Given the description of an element on the screen output the (x, y) to click on. 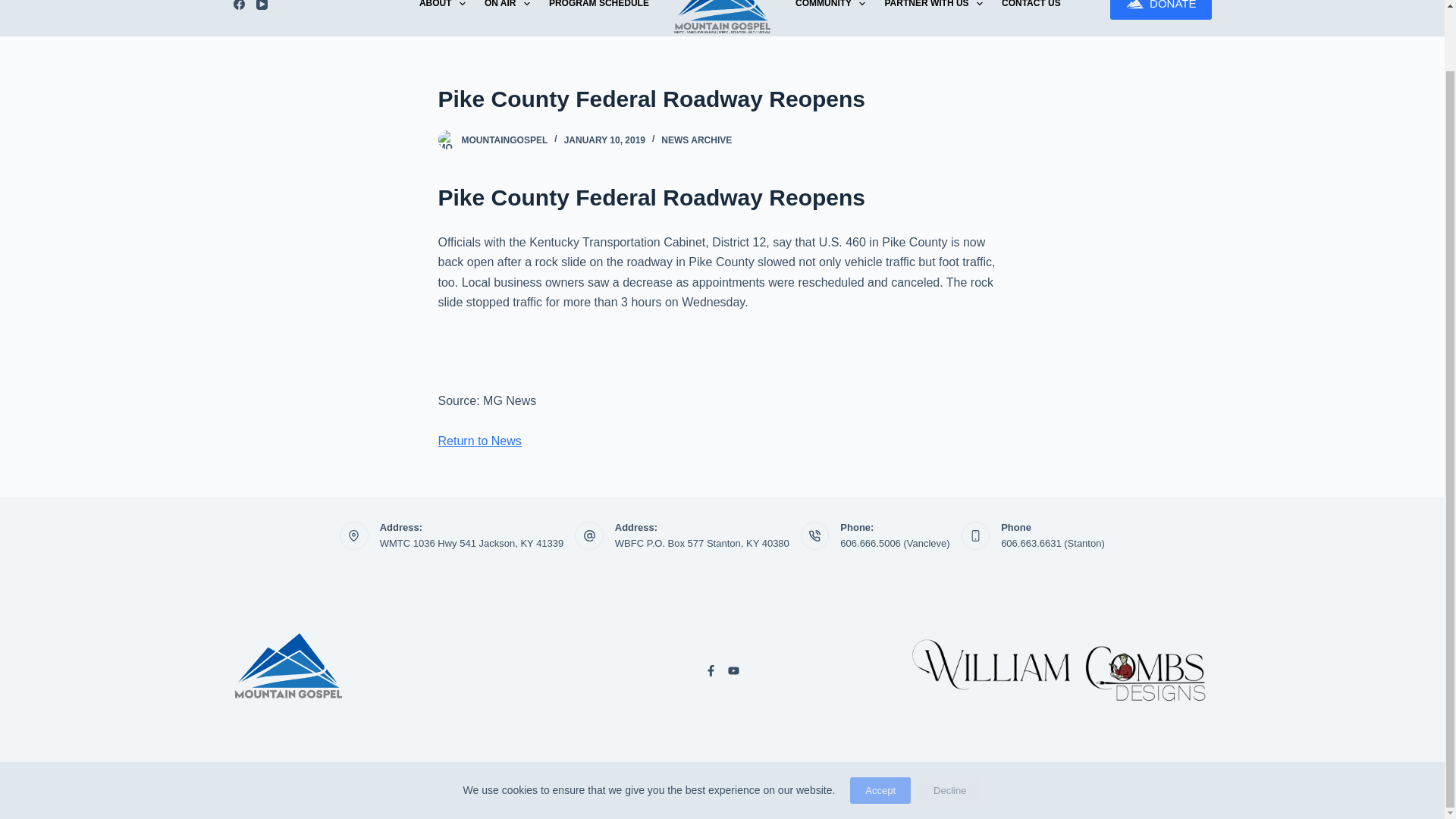
CONTACT US (1030, 18)
Posts by mountaingospel (504, 140)
PROGRAM SCHEDULE (598, 18)
NEWS ARCHIVE (696, 140)
Return to News (479, 440)
ON AIR (506, 18)
ABOUT (441, 18)
Accept (880, 723)
PARTNER WITH US (933, 18)
COMMUNITY (830, 18)
DONATE (1160, 9)
Decline (949, 723)
MOUNTAINGOSPEL (504, 140)
Pike County Federal Roadway Reopens (722, 98)
